Given the description of an element on the screen output the (x, y) to click on. 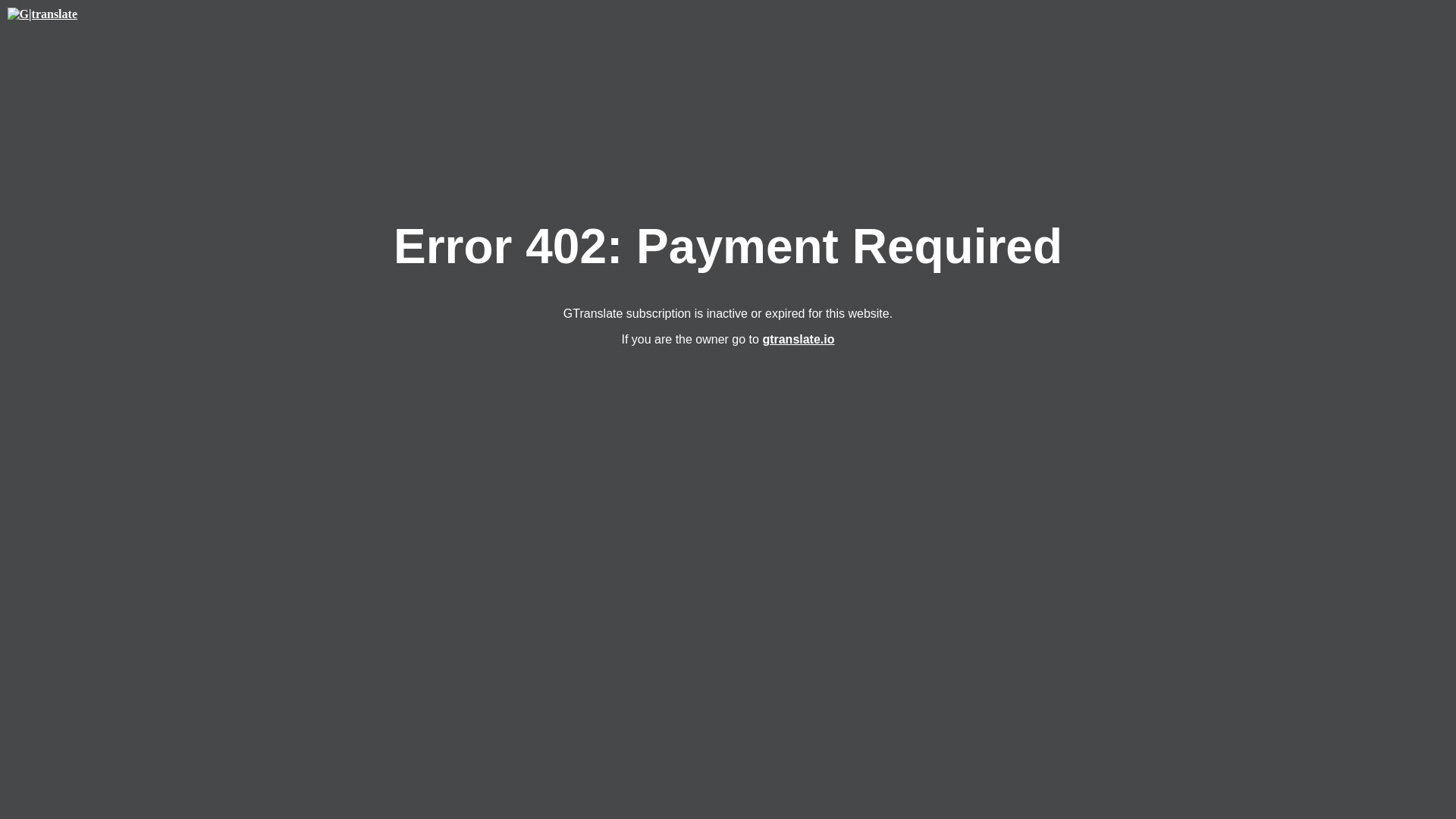
gtranslate.io (797, 338)
